Given the description of an element on the screen output the (x, y) to click on. 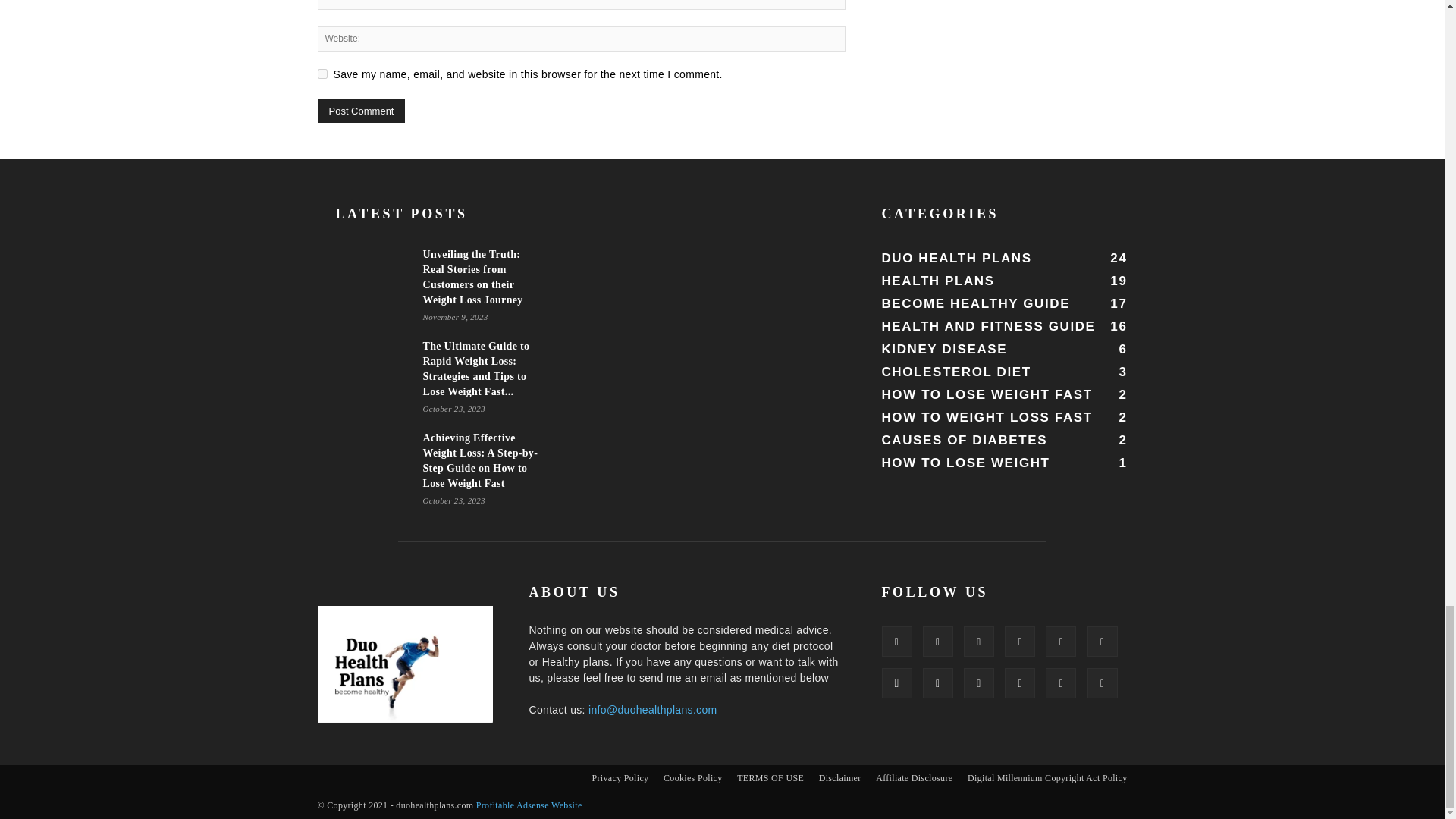
Post Comment (360, 110)
yes (321, 73)
